Given the description of an element on the screen output the (x, y) to click on. 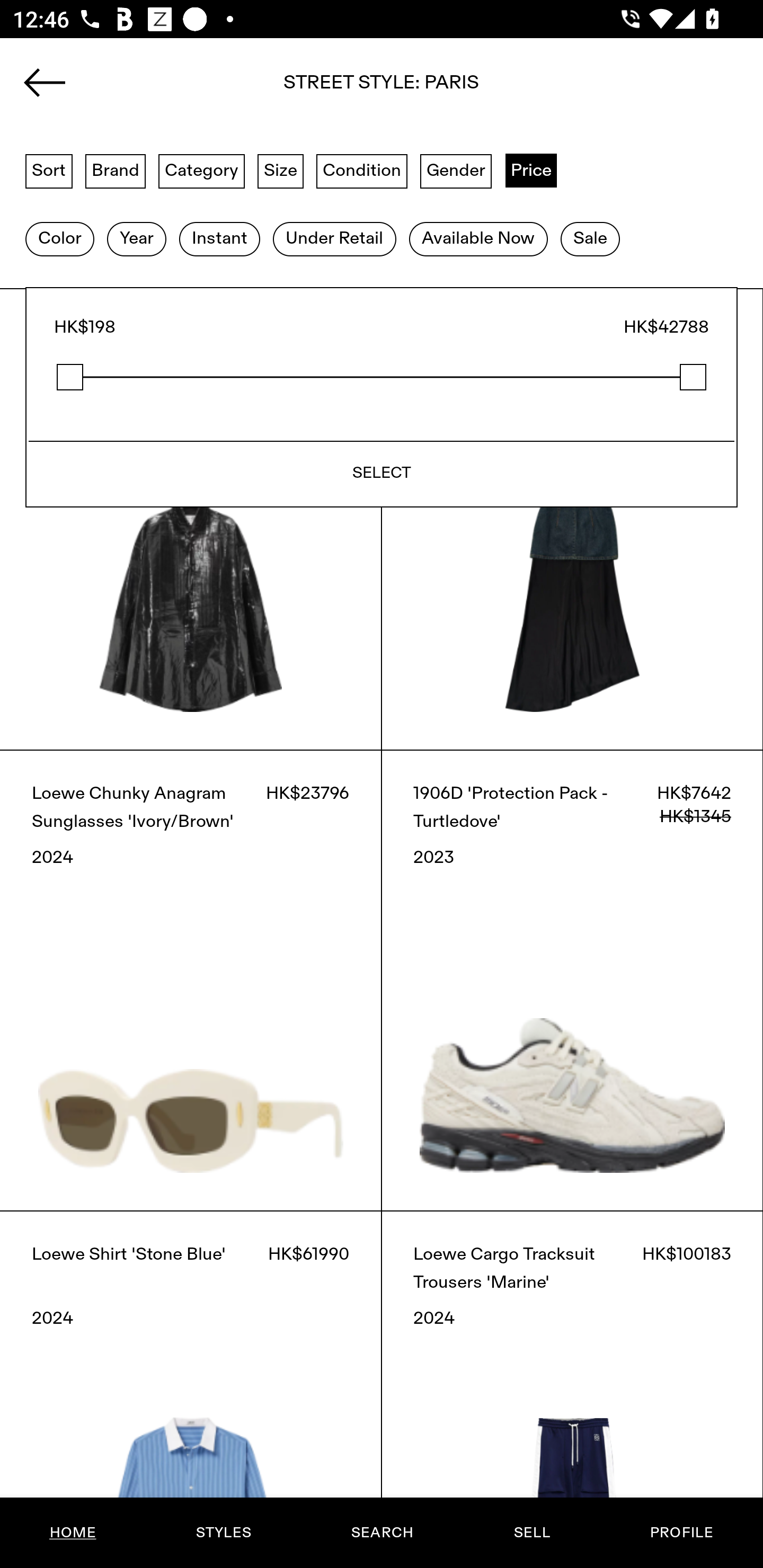
basketball shoes (381, 88)
Sort (48, 170)
Brand (115, 170)
Category (201, 170)
Size (280, 170)
Condition (361, 170)
Gender (455, 170)
Price (530, 170)
Color (59, 239)
Year (136, 239)
Instant (219, 239)
Under Retail (334, 239)
Available Now (477, 239)
Sale (589, 239)
198.0 Range start,198 42788.0 Range end,42788 (381, 376)
Loewe Shirt 'Stone Blue' HK$61990 2024 (190, 1389)
HOME (72, 1532)
STYLES (222, 1532)
SEARCH (381, 1532)
SELL (531, 1532)
PROFILE (681, 1532)
